Given the description of an element on the screen output the (x, y) to click on. 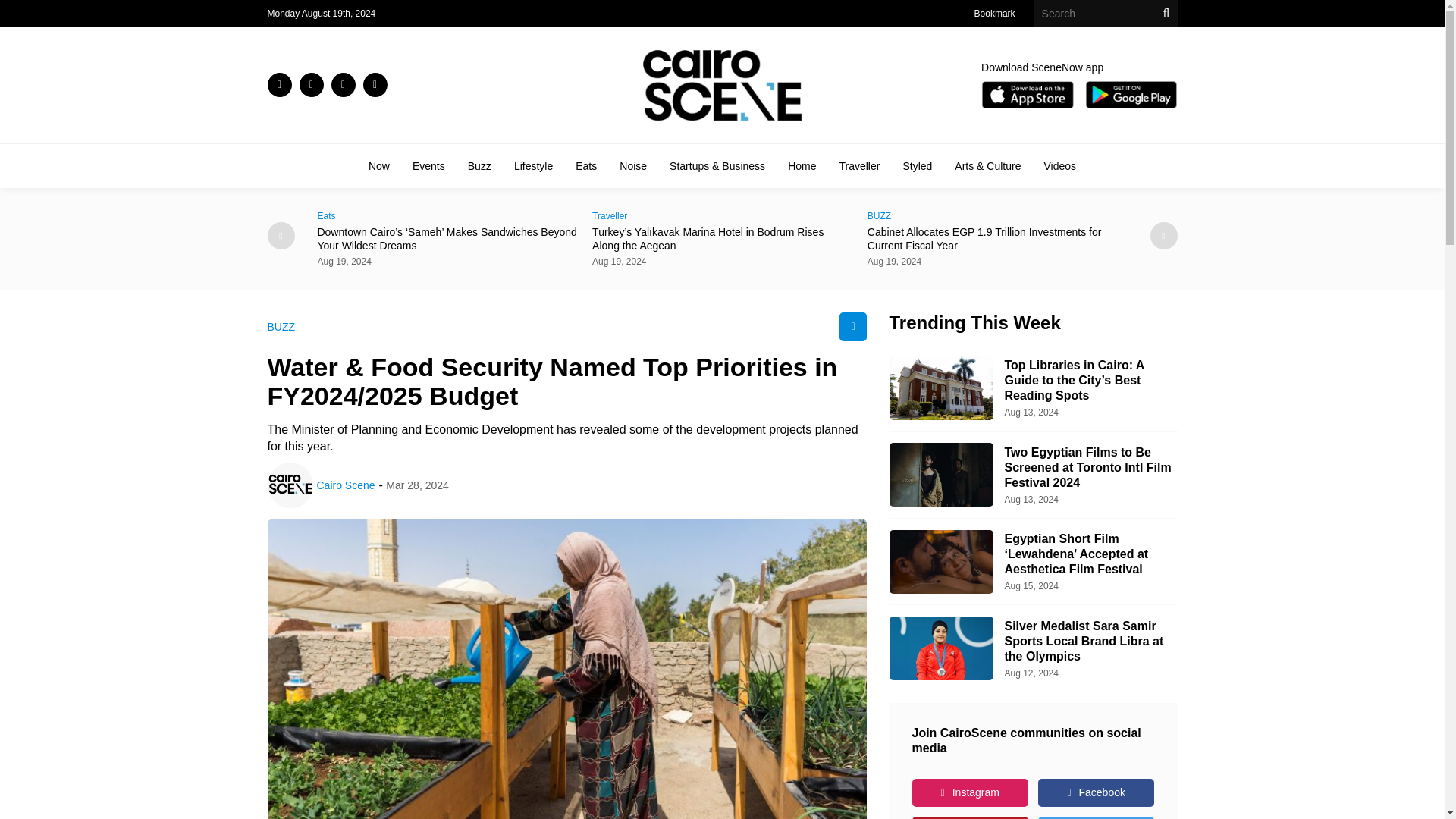
Lifestyle (533, 165)
Styled (916, 165)
Videos (1059, 165)
Eats (585, 165)
Traveller (721, 215)
Buzz (479, 165)
BUZZ (996, 215)
Now (379, 165)
Events (428, 165)
